Given the description of an element on the screen output the (x, y) to click on. 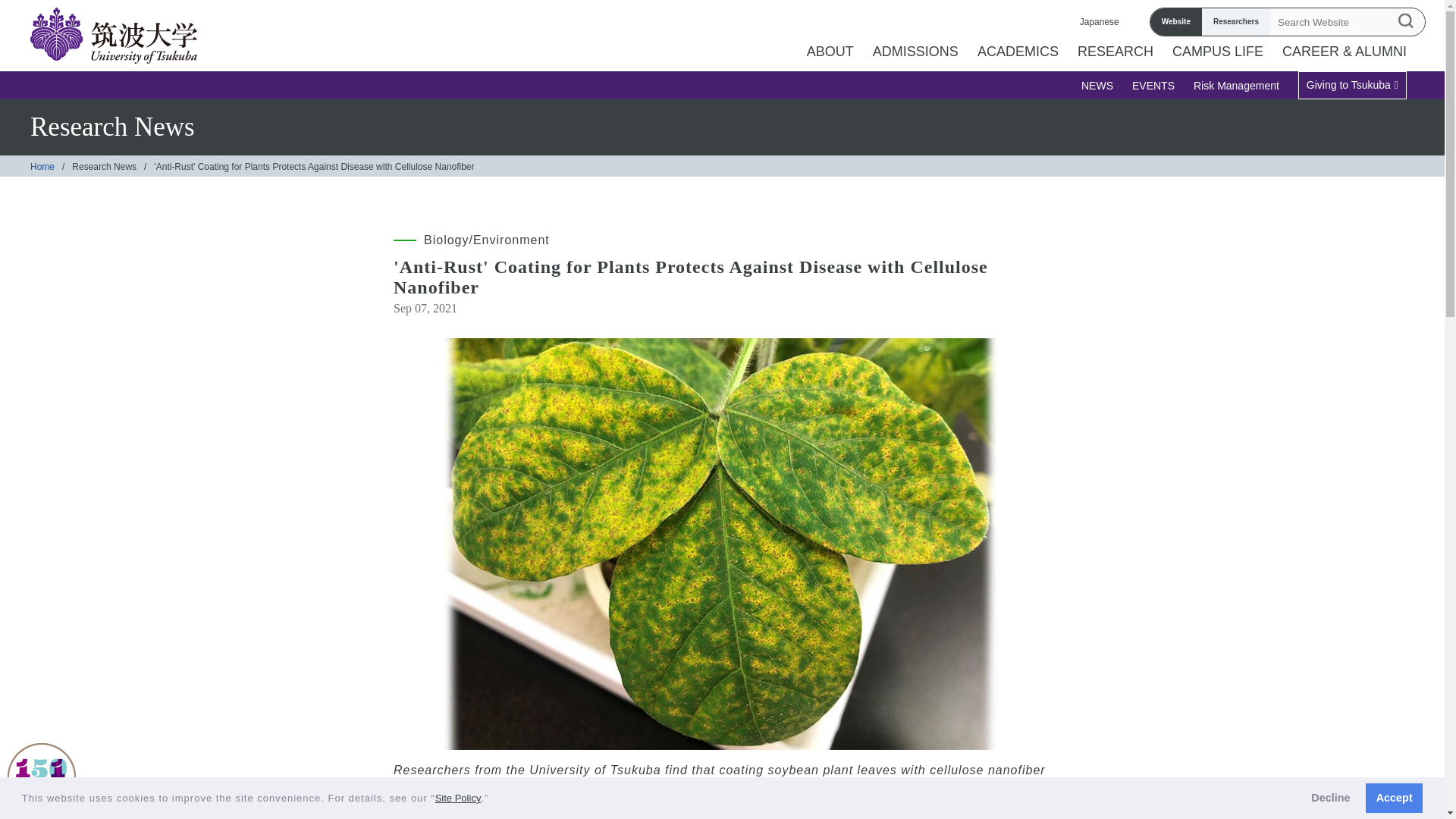
Decline (1330, 797)
Site Policy (458, 797)
Accept (1393, 797)
